Given the description of an element on the screen output the (x, y) to click on. 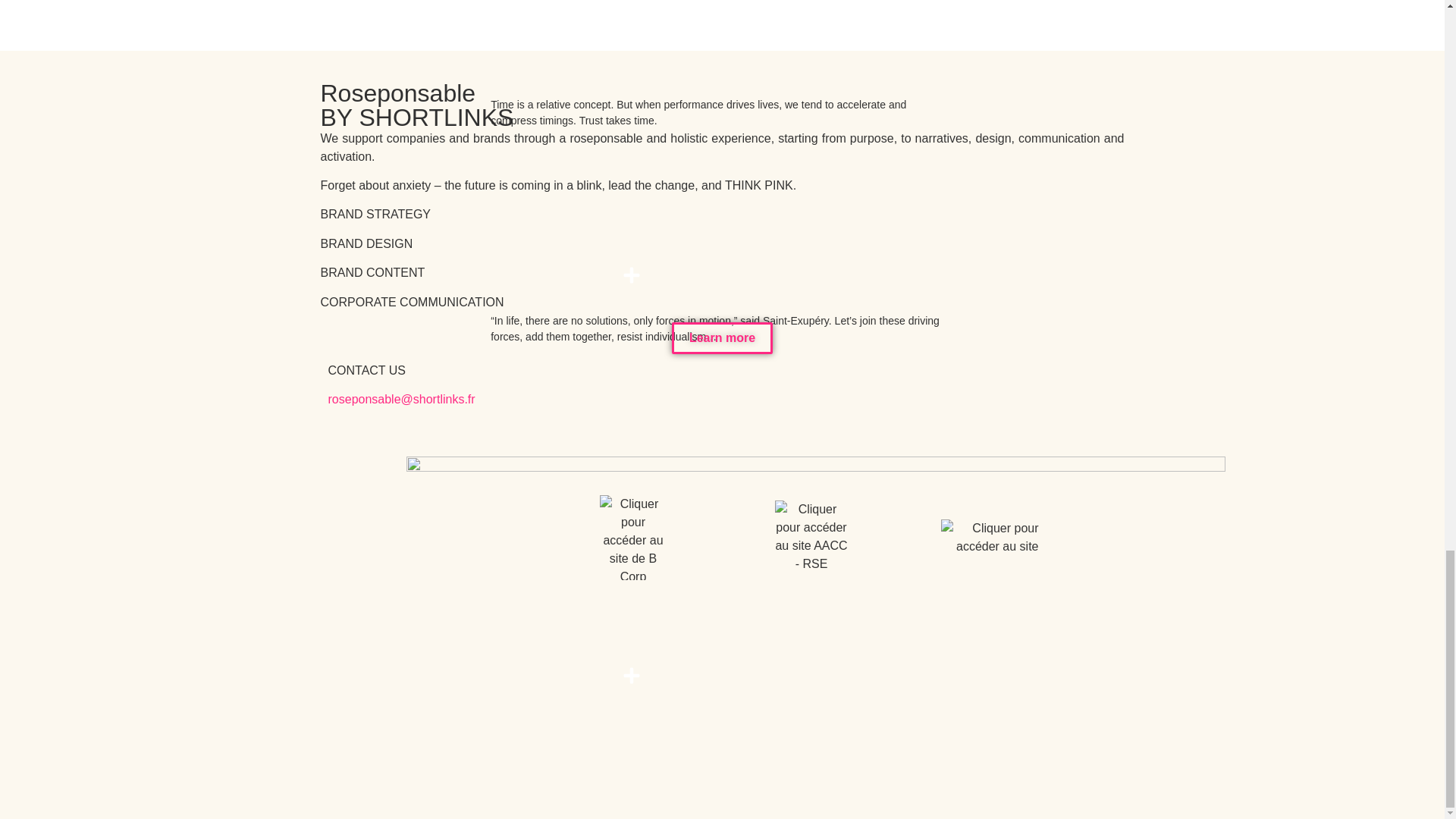
Learn more (722, 337)
